Given the description of an element on the screen output the (x, y) to click on. 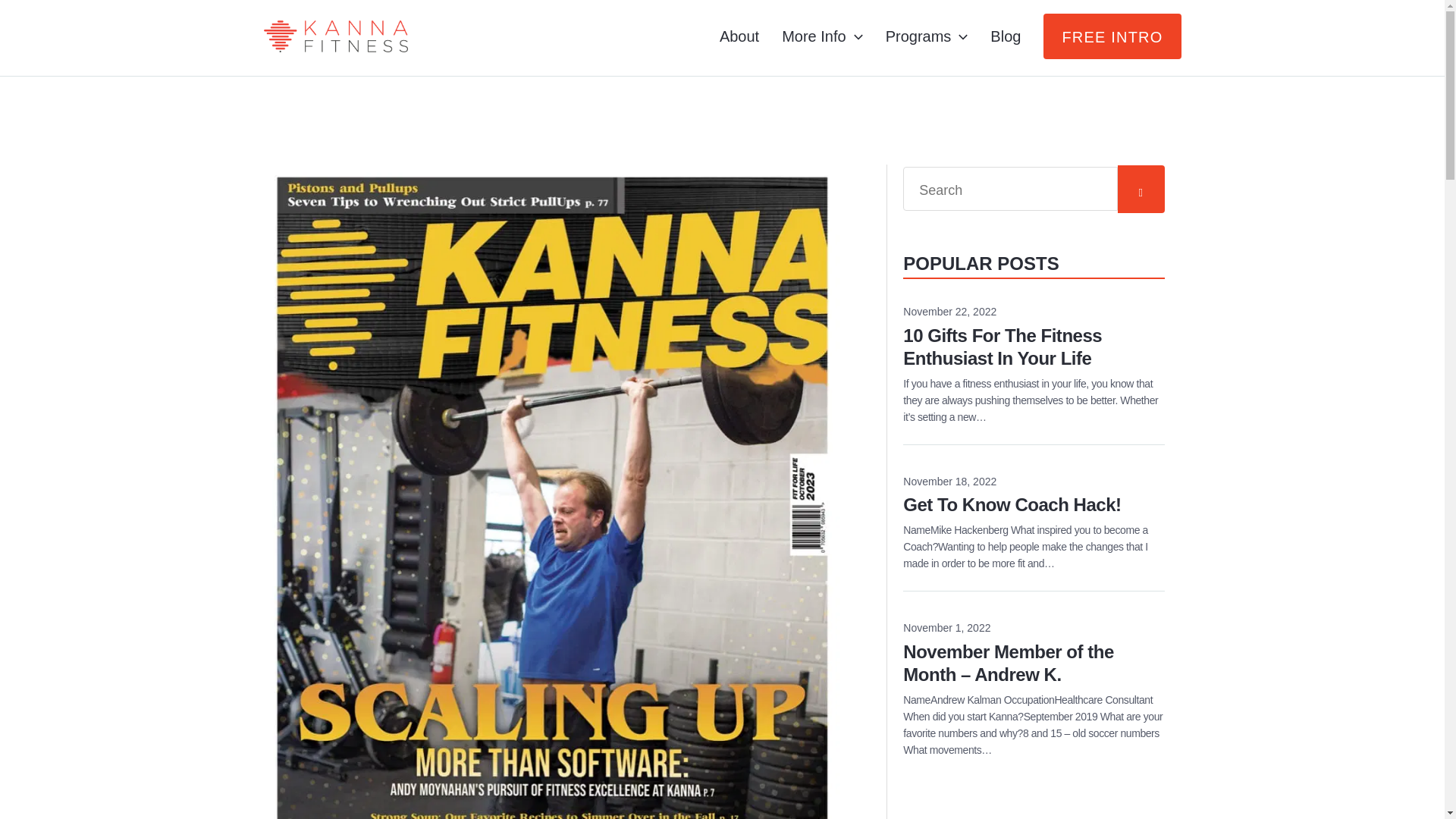
Programs (1033, 496)
About (927, 35)
FREE INTRO (738, 35)
Blog (1111, 35)
More Info (1005, 35)
